Given the description of an element on the screen output the (x, y) to click on. 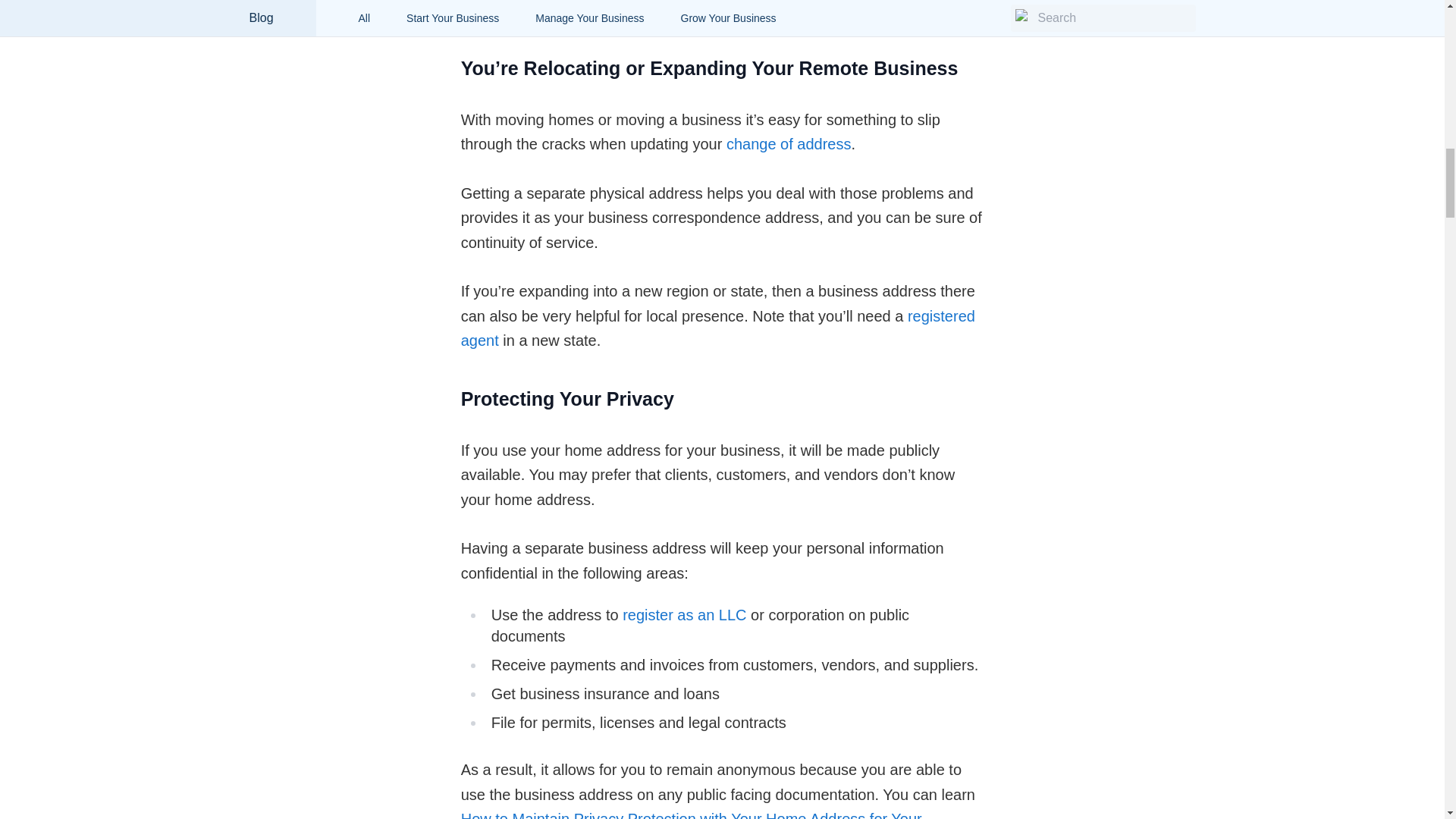
change of address (788, 143)
register as an LLC (684, 614)
registered agent (718, 328)
